Given the description of an element on the screen output the (x, y) to click on. 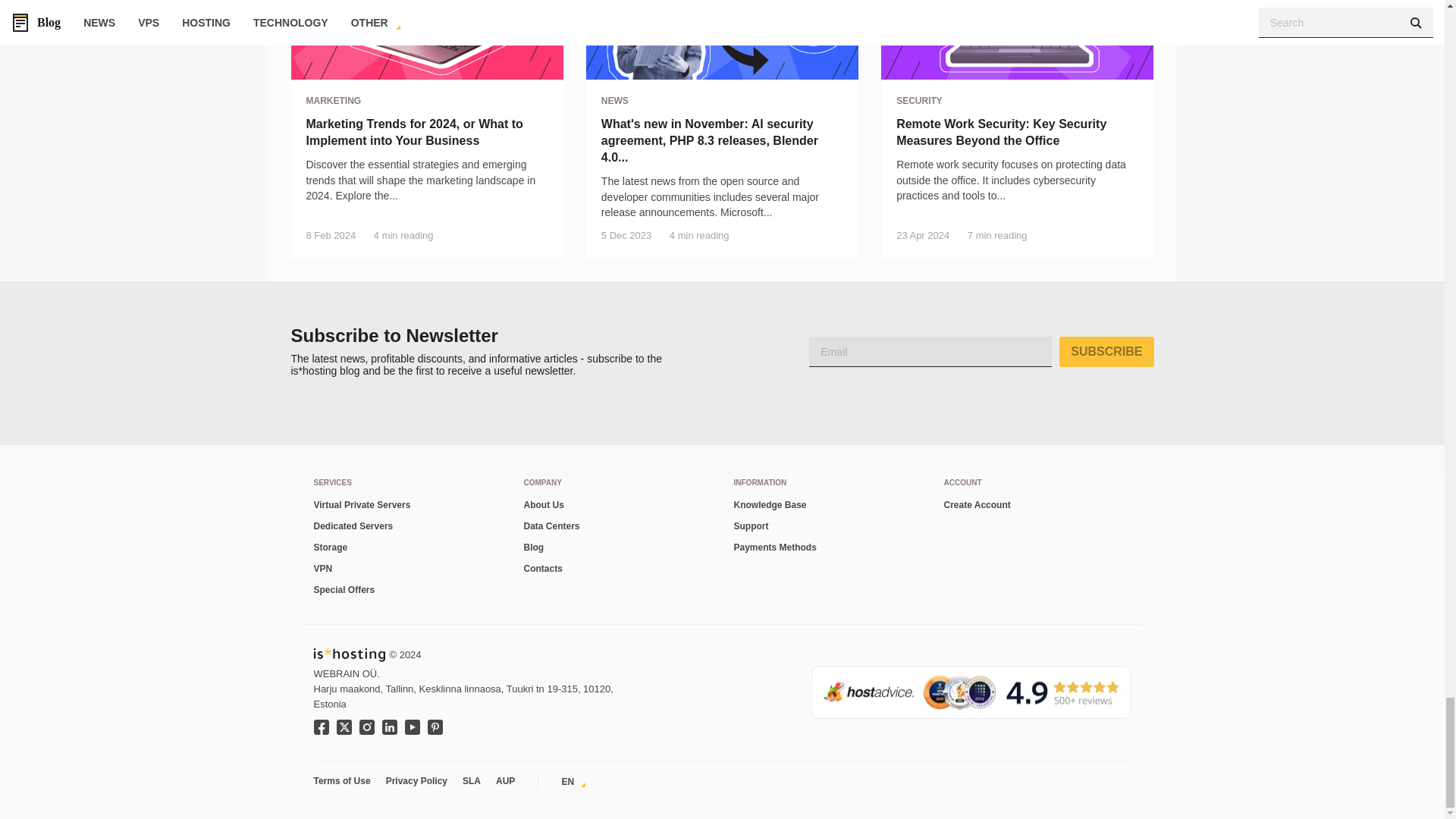
Create Account (1037, 505)
Blog (616, 547)
Data Centers (616, 526)
Terms of Use (346, 781)
Virtual Private Servers (407, 505)
Contacts (616, 568)
Support (827, 526)
Storage (407, 547)
Subscribe (1106, 351)
Payments Methods (827, 547)
